Given the description of an element on the screen output the (x, y) to click on. 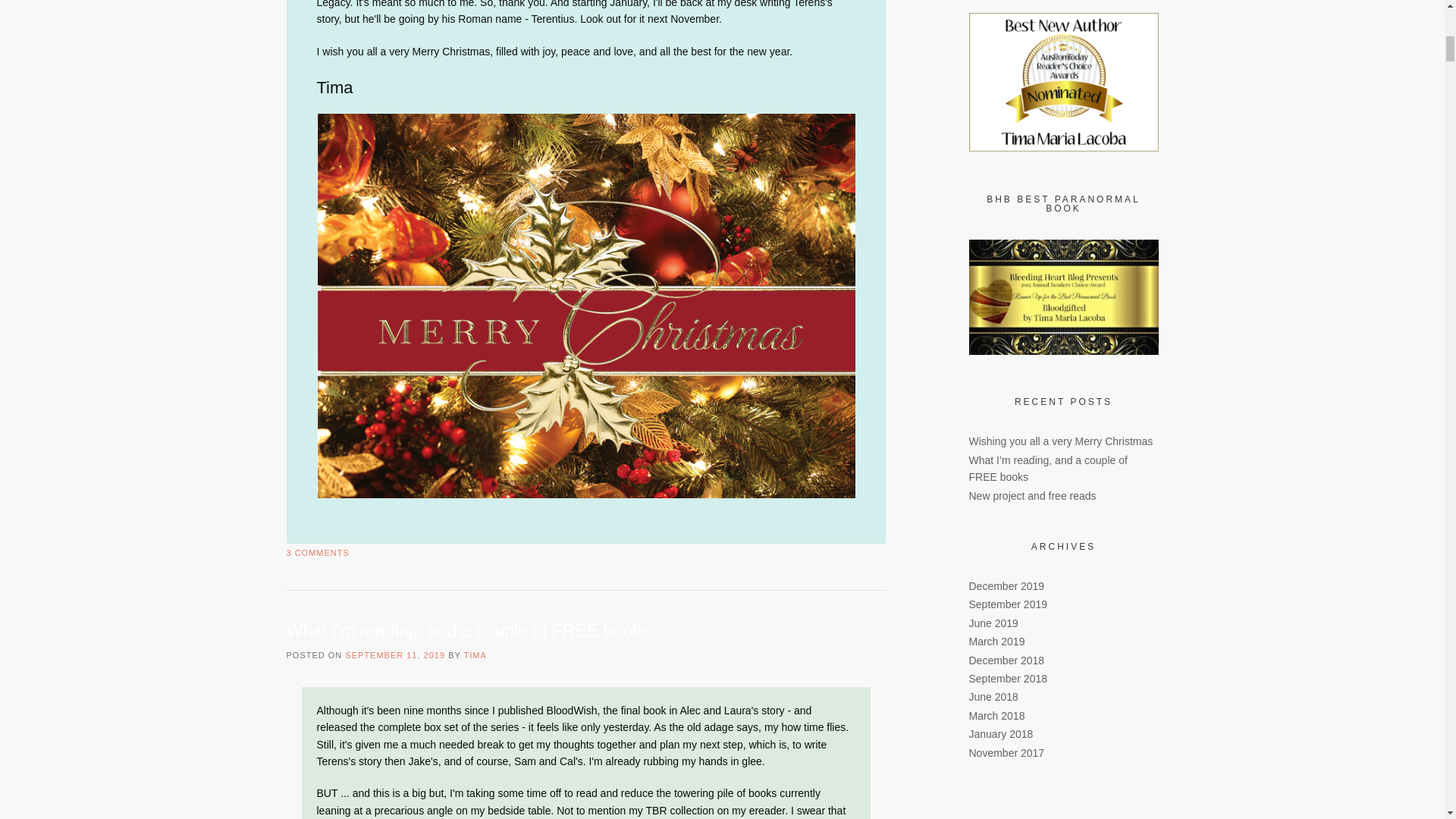
SEPTEMBER 11, 2019 (395, 655)
TIMA (474, 655)
3 COMMENTS (317, 552)
